Given the description of an element on the screen output the (x, y) to click on. 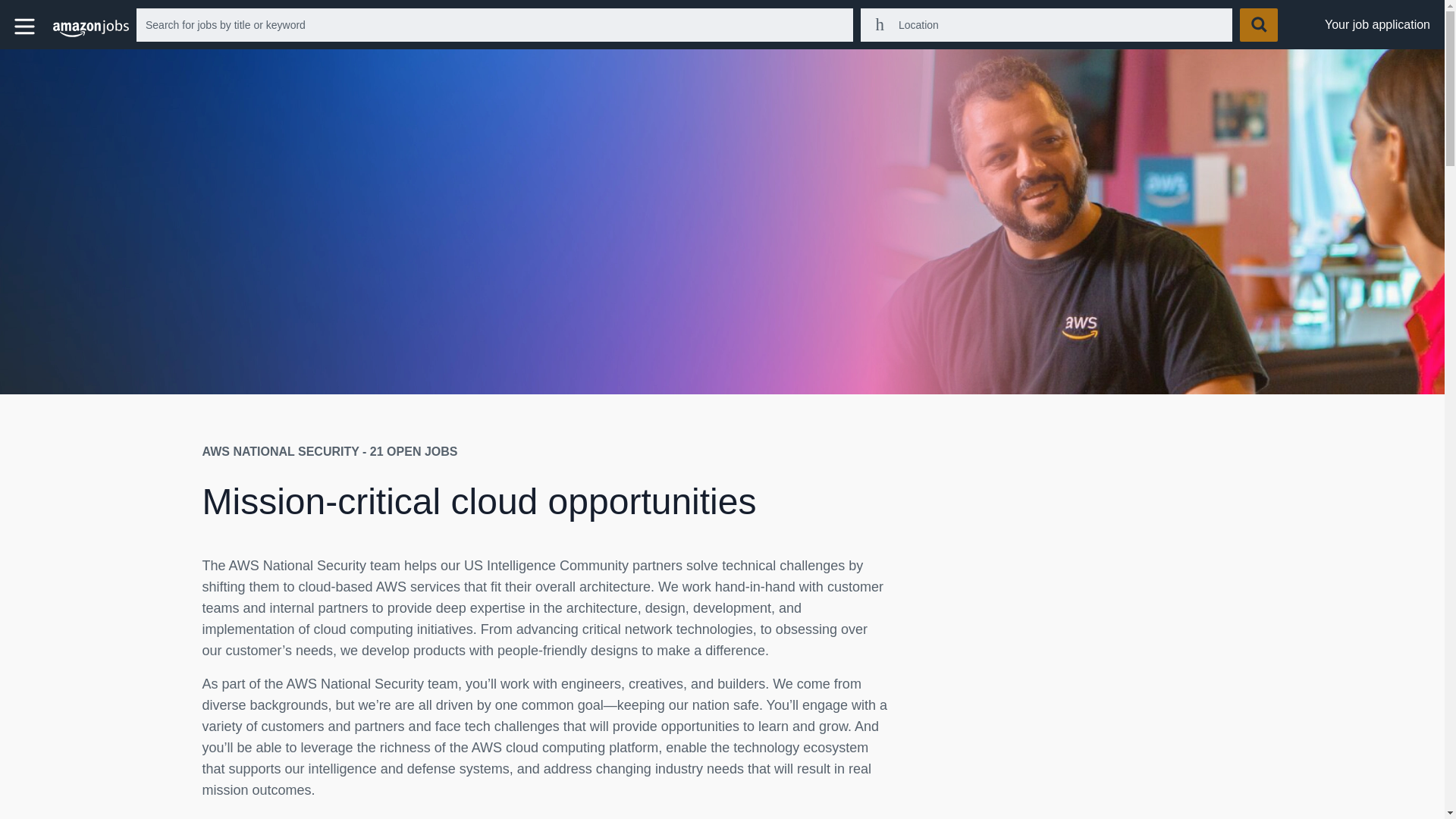
Skip to main content (11, 11)
Amazon Jobs home page (90, 30)
Your job application (1376, 24)
